Given the description of an element on the screen output the (x, y) to click on. 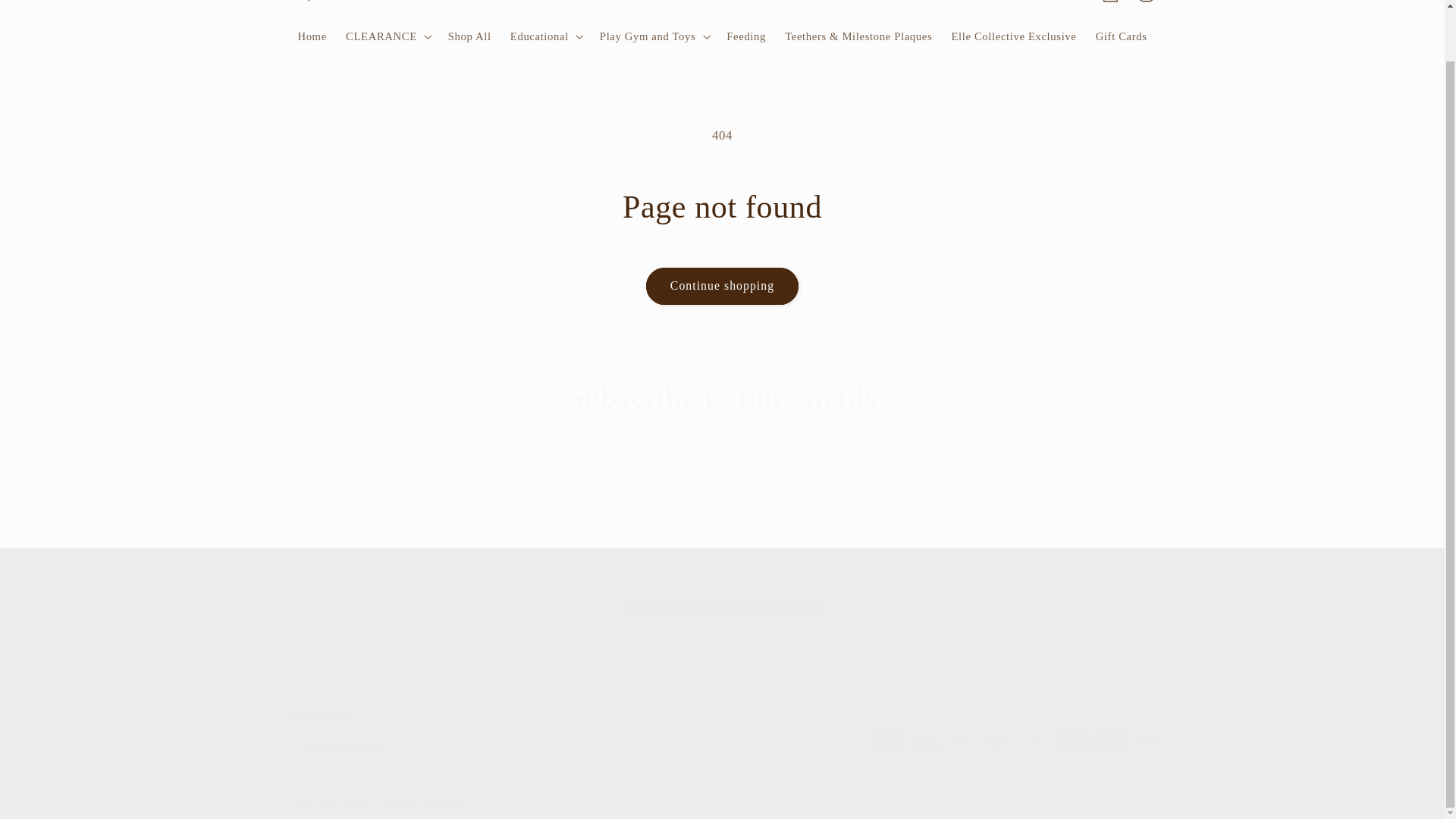
Email (722, 490)
Home (312, 36)
Elle Collective (722, 4)
Subscribe to our emails (722, 397)
